Given the description of an element on the screen output the (x, y) to click on. 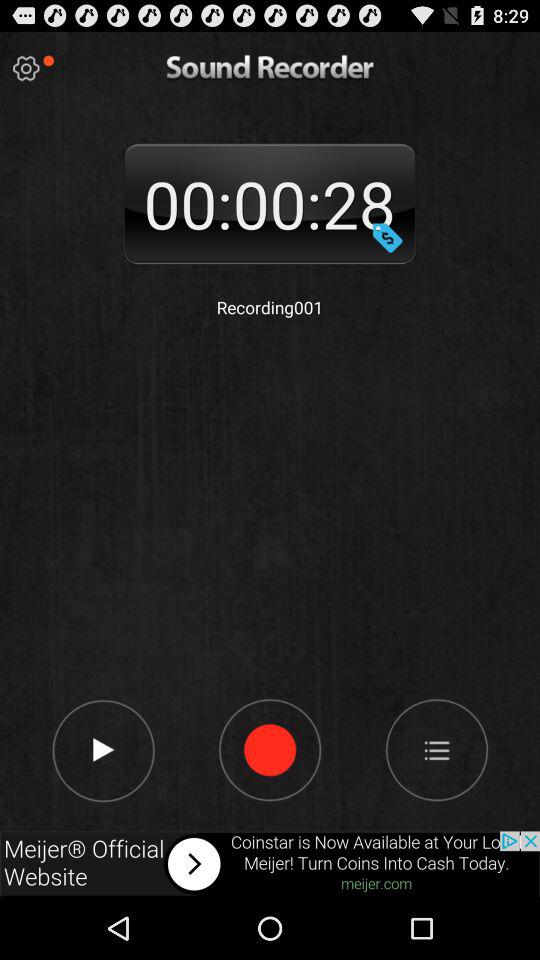
video record button (269, 749)
